Given the description of an element on the screen output the (x, y) to click on. 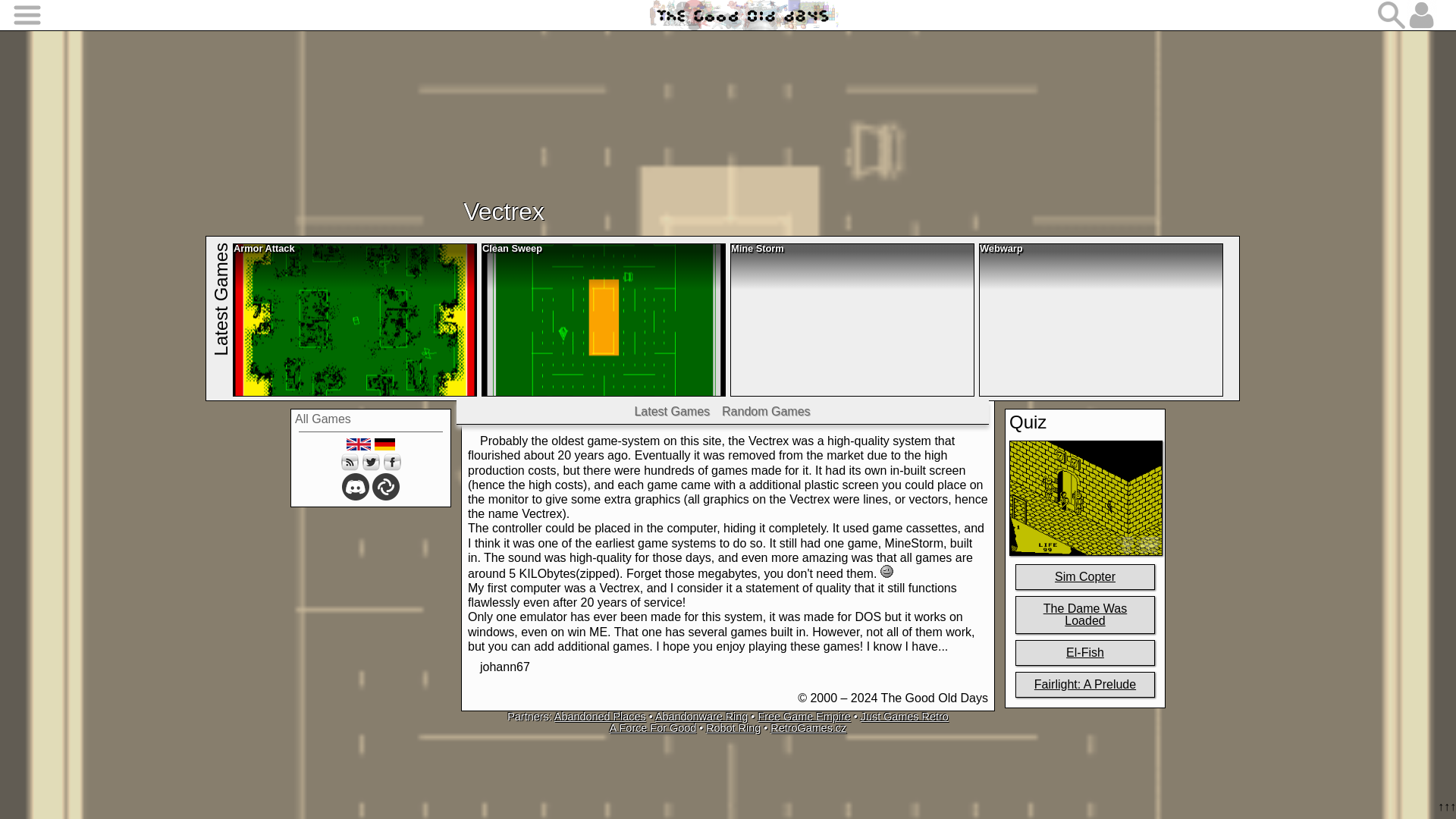
Armor Attack (354, 319)
Twitter (370, 461)
RSS (349, 461)
Clean Sweep (603, 319)
Discord (355, 486)
All Games (322, 418)
Facebook (391, 461)
Clean Sweep (603, 319)
Mine Storm (852, 319)
Webwarp (1100, 319)
Armor Attack (354, 319)
Matrix (385, 486)
Mine Storm (852, 319)
The Good Old Days (743, 15)
Webwarp (1100, 319)
